Given the description of an element on the screen output the (x, y) to click on. 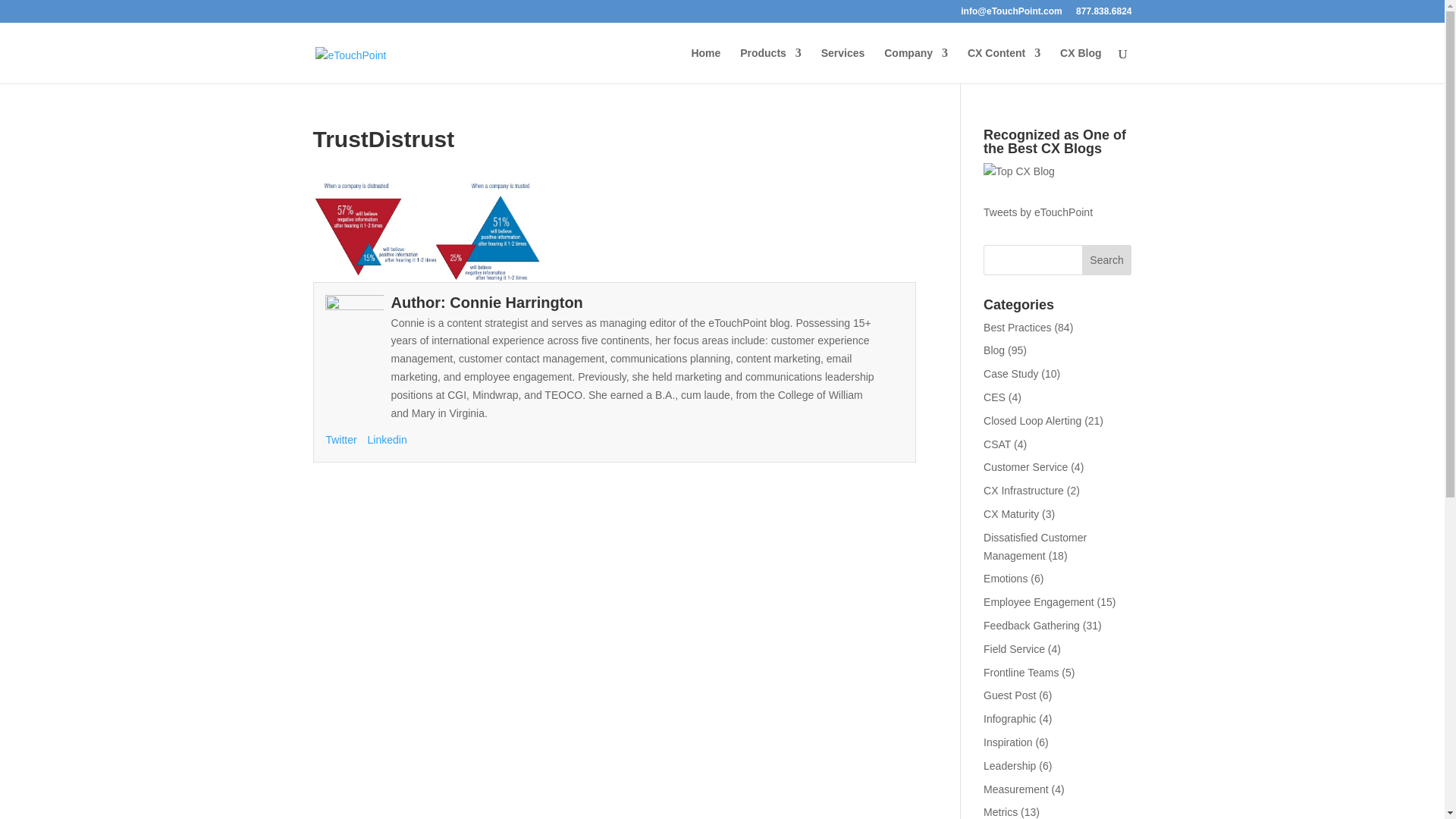
CSAT (997, 444)
877.838.6824 (1103, 14)
Linkedin (387, 439)
Products (770, 65)
Home (705, 65)
Search (1106, 259)
Employee Engagement (1039, 602)
Blog (994, 349)
Search (1106, 259)
Dissatisfied Customer Management (1035, 546)
Emotions (1005, 578)
Field Service (1014, 648)
Closed Loop Alerting (1032, 420)
Tweets by eTouchPoint (1038, 212)
CX Content (1004, 65)
